Given the description of an element on the screen output the (x, y) to click on. 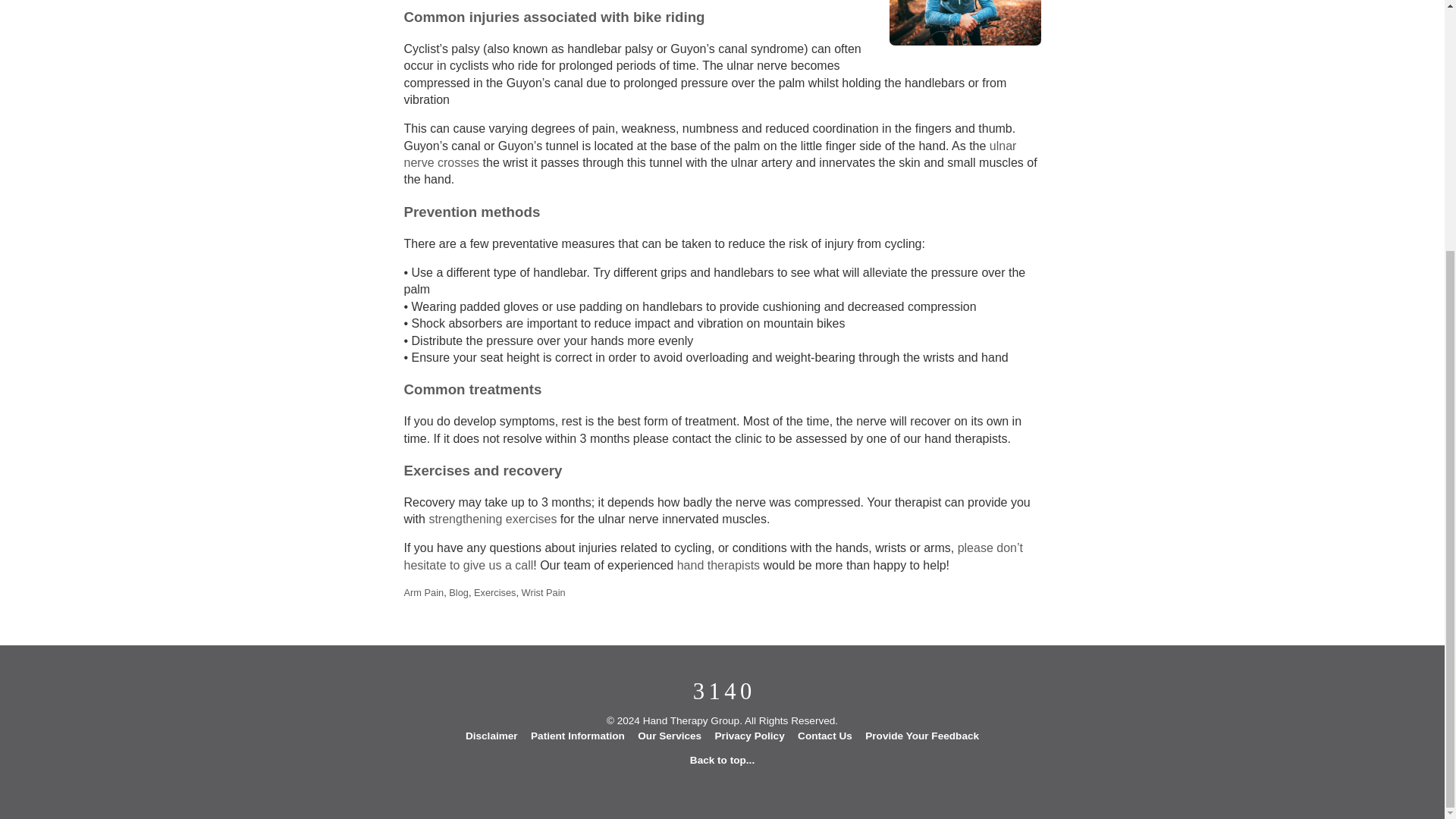
Arm Pain (423, 592)
hand therapists (718, 564)
ulnar nerve crosses (709, 153)
Wrist Pain (543, 592)
Exercises (494, 592)
strengthening exercises (492, 518)
Blog (458, 592)
